Given the description of an element on the screen output the (x, y) to click on. 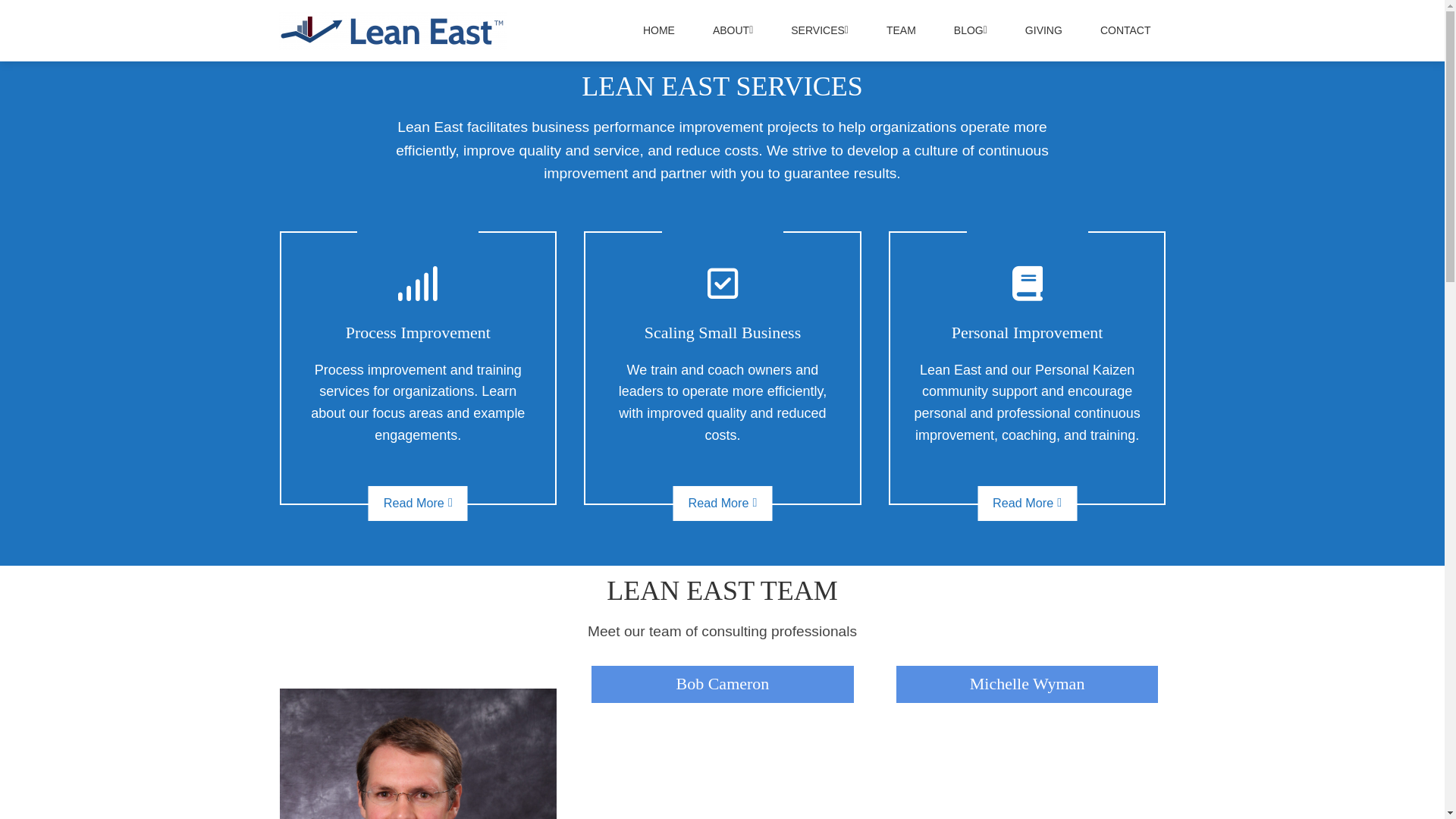
Search Element type: text (36, 15)
HOME Element type: text (658, 29)
Read More Element type: text (417, 503)
SERVICES Element type: text (819, 29)
ABOUT Element type: text (732, 29)
Read More Element type: text (1026, 503)
BLOG Element type: text (970, 29)
Search Element type: text (765, 449)
TEAM Element type: text (901, 29)
GIVING Element type: text (1043, 29)
CONTACT Element type: text (1125, 29)
Read More Element type: text (721, 503)
